Given the description of an element on the screen output the (x, y) to click on. 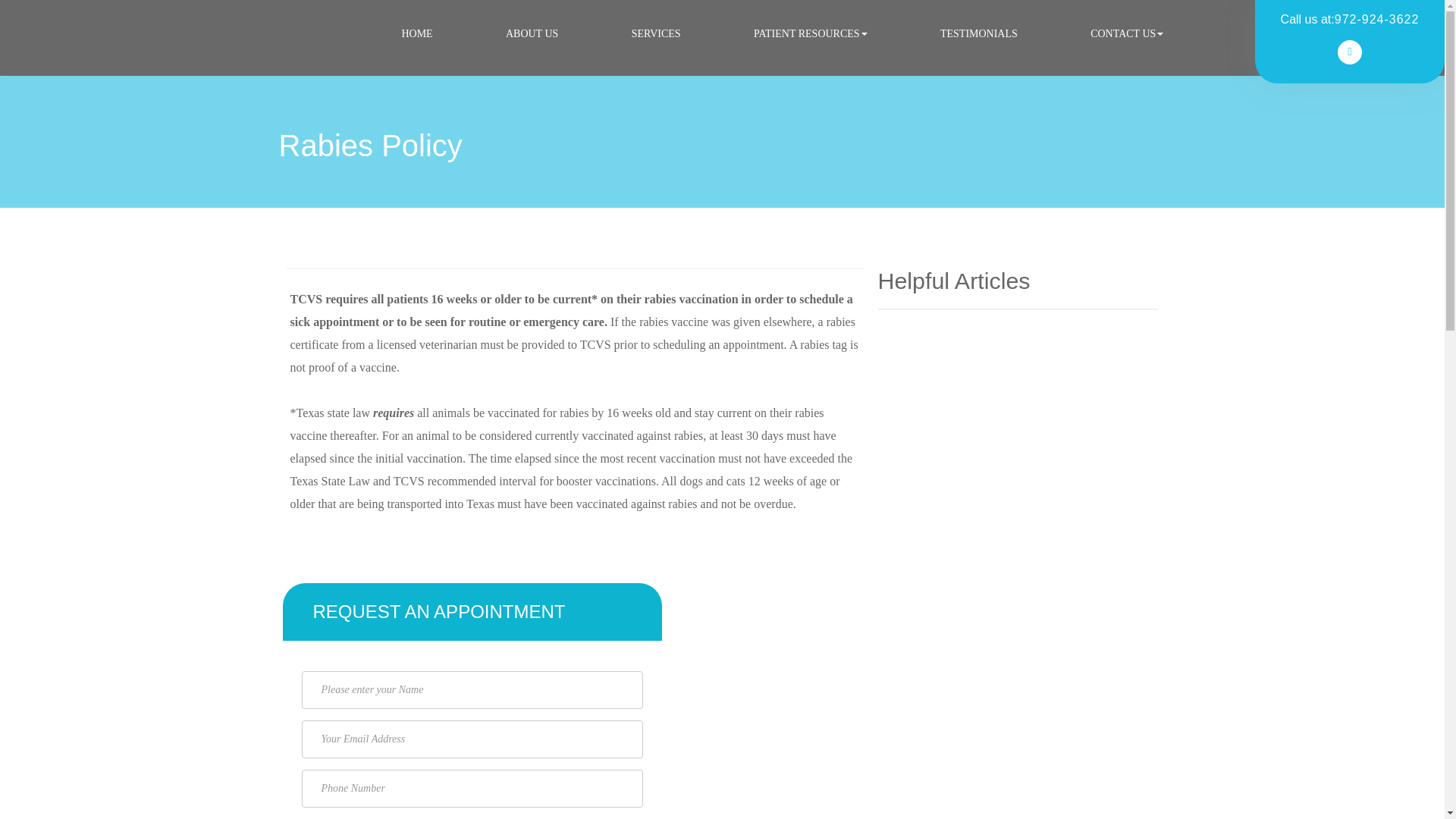
CONTACT US (1126, 33)
TESTIMONIALS (978, 33)
PATIENT RESOURCES (810, 33)
